Given the description of an element on the screen output the (x, y) to click on. 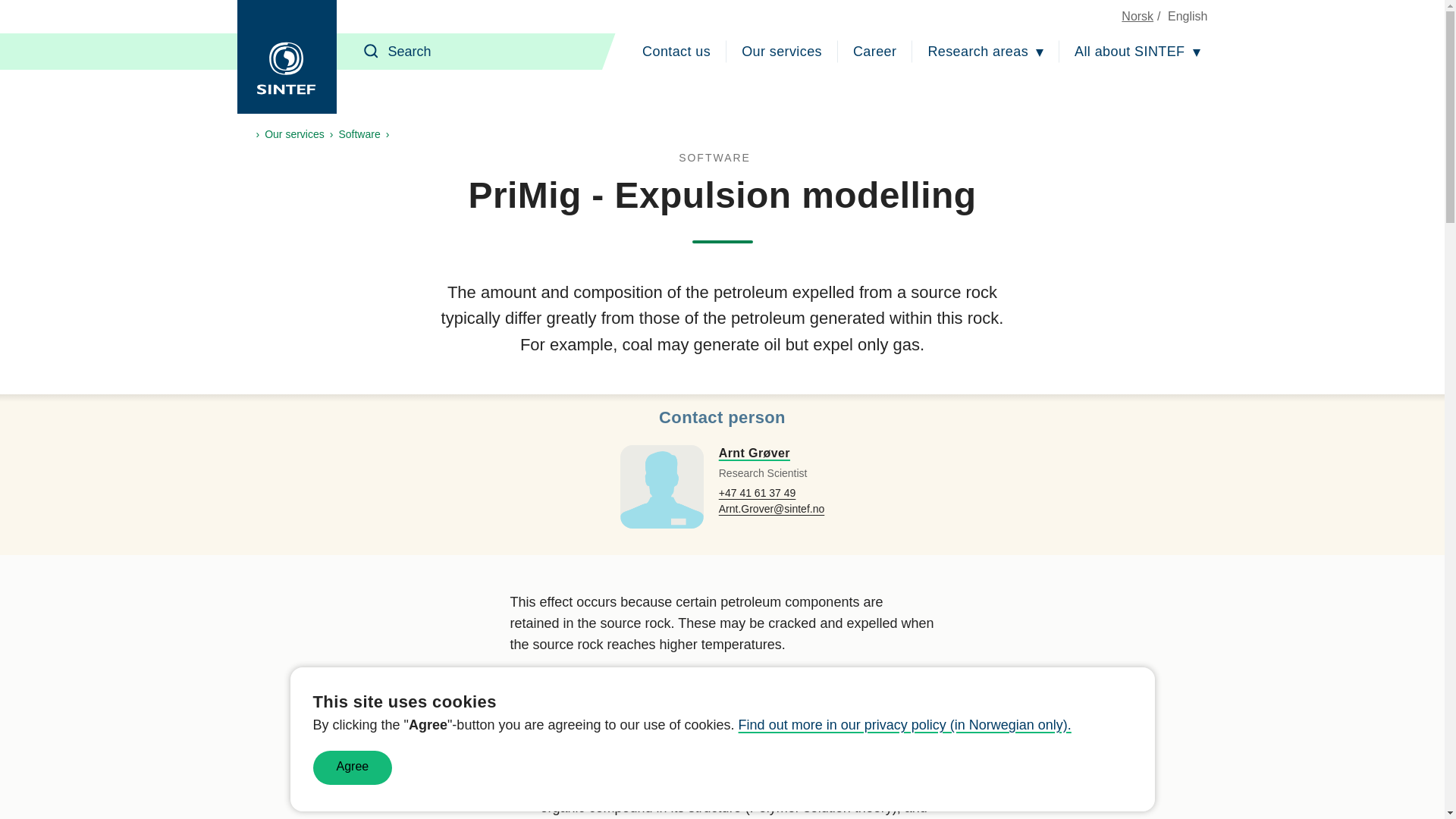
Career (874, 51)
All software (721, 157)
Our services (781, 51)
Contact us (675, 51)
Norsk (1137, 16)
All about SINTEF (1137, 51)
Research areas (985, 51)
